Given the description of an element on the screen output the (x, y) to click on. 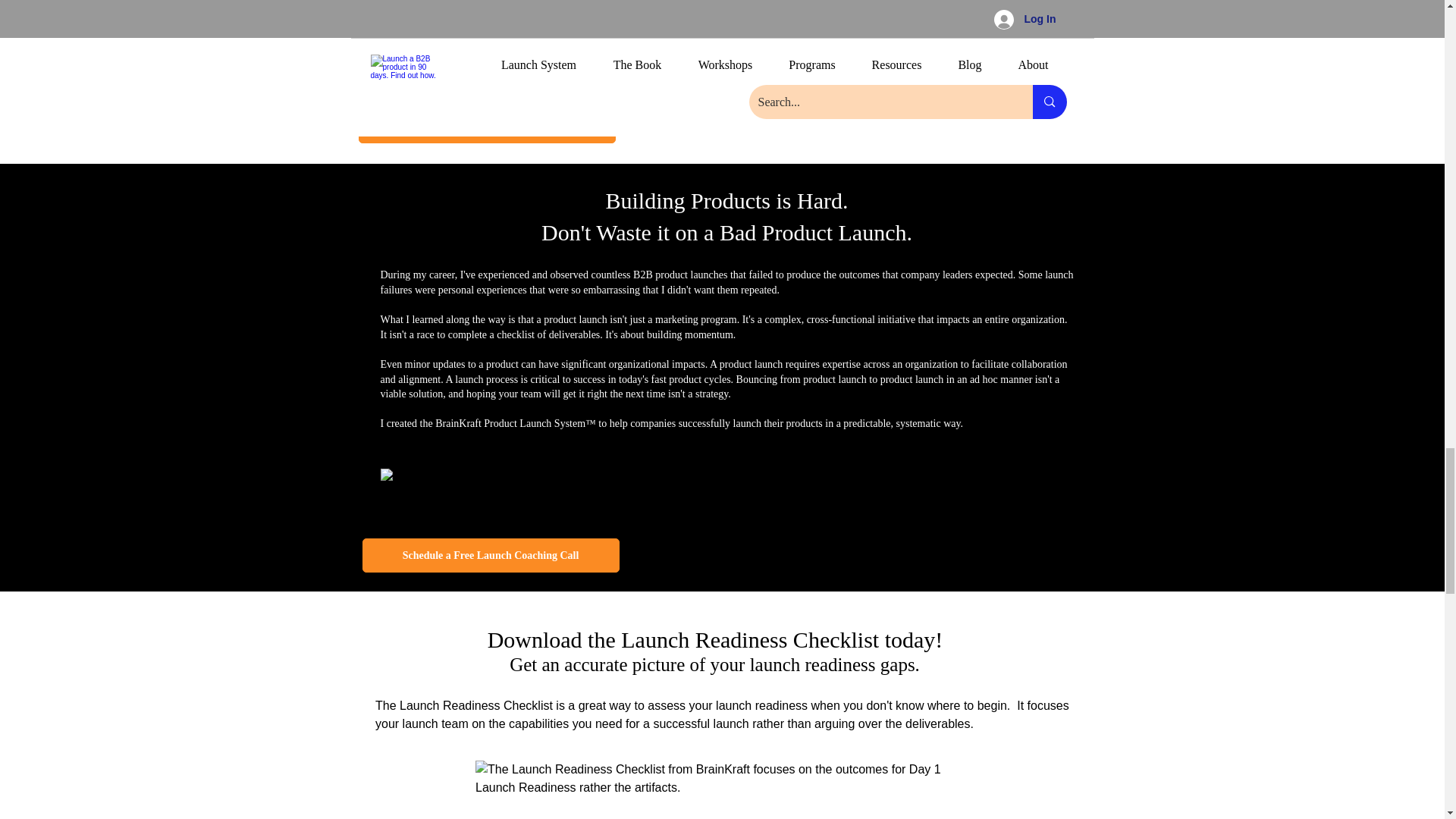
Schedule a Free Launch Coaching Call (486, 125)
Schedule a Free Launch Coaching Call (491, 555)
